Given the description of an element on the screen output the (x, y) to click on. 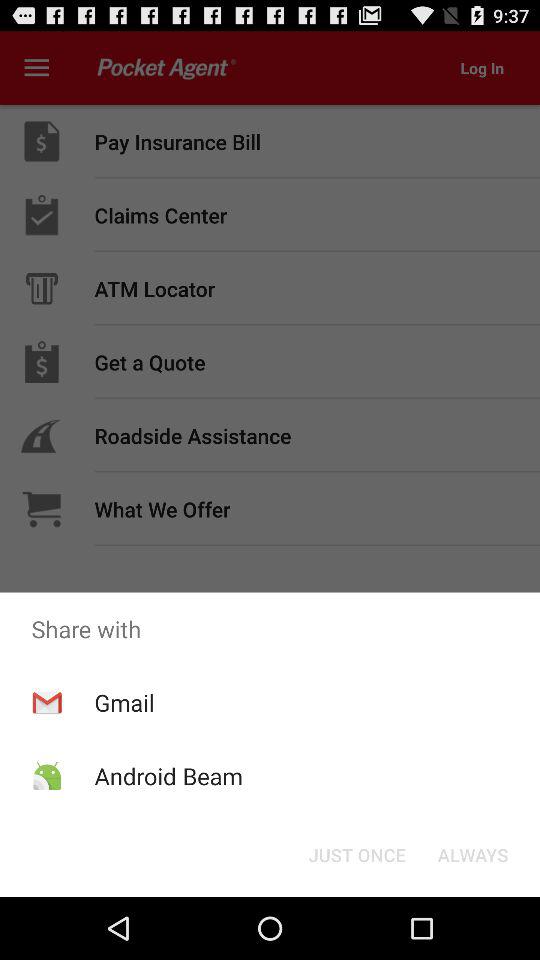
turn off the app below share with (472, 854)
